Given the description of an element on the screen output the (x, y) to click on. 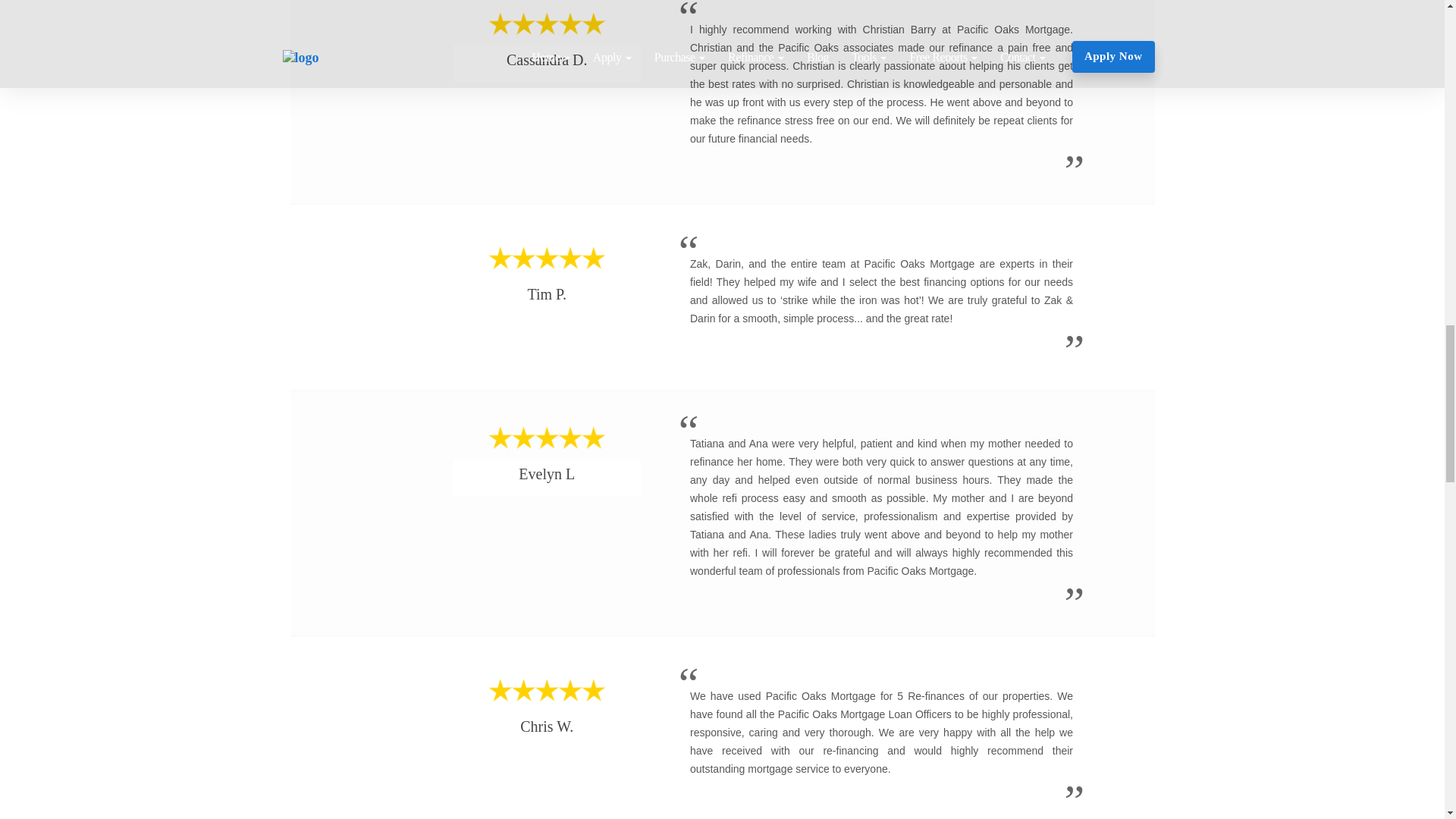
5 stars (546, 438)
5 stars (546, 258)
5 stars (546, 690)
5 stars (546, 23)
